Given the description of an element on the screen output the (x, y) to click on. 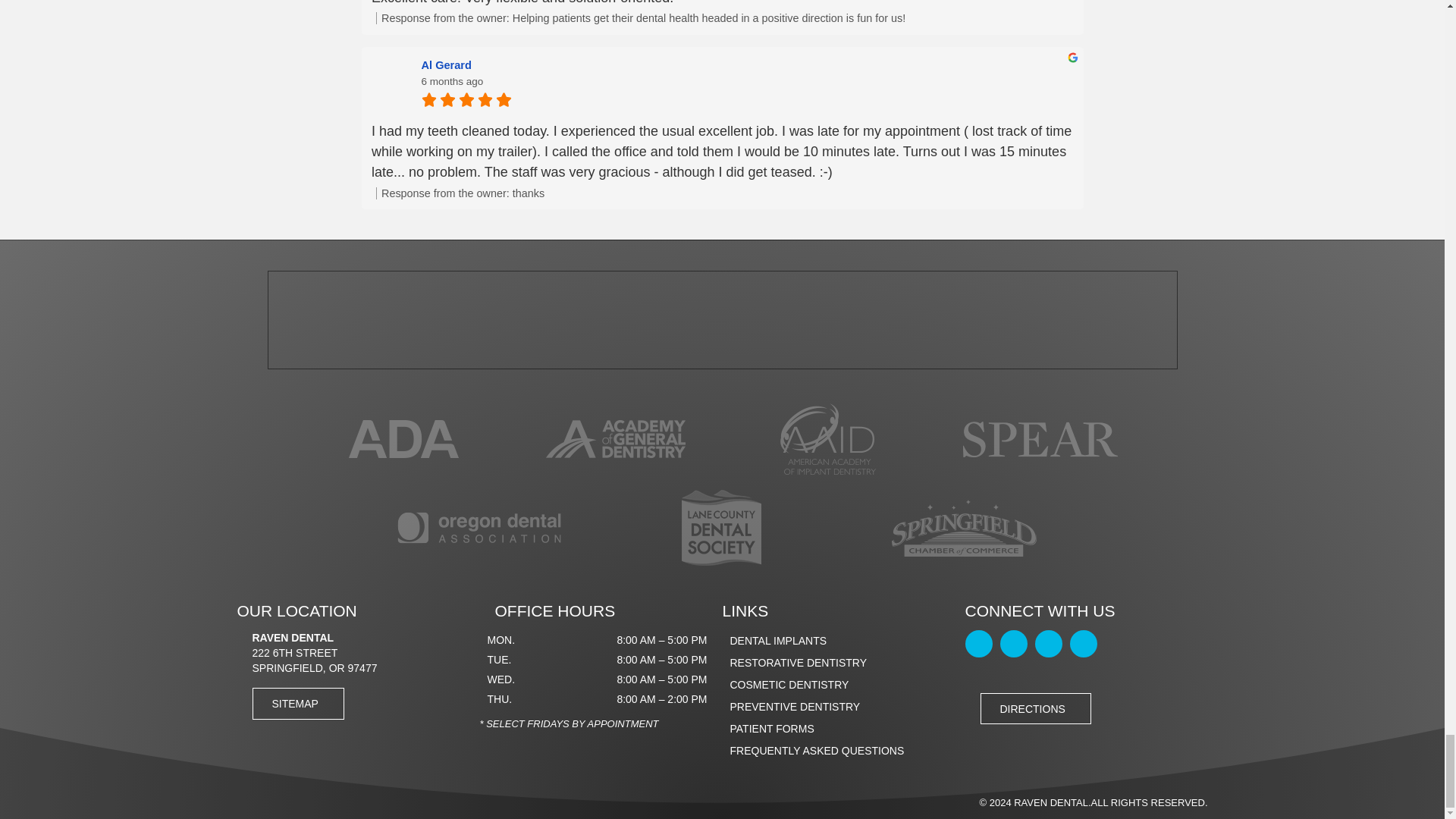
Response from the owner: thanks (724, 193)
Excellent care! Very flexible and solution-oriented. (722, 4)
